Given the description of an element on the screen output the (x, y) to click on. 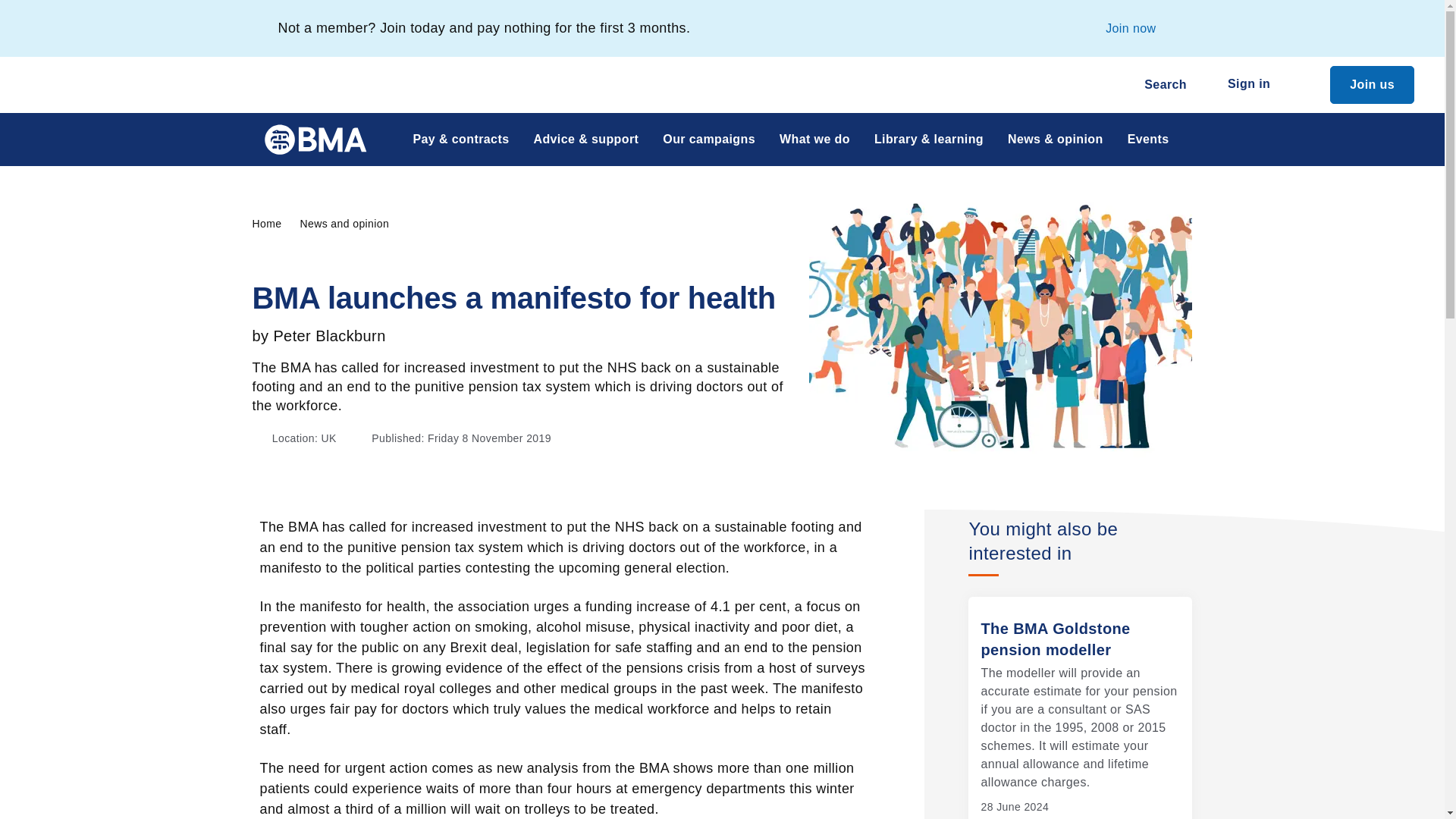
Sign in (1257, 85)
News and opinion (353, 223)
What we do (814, 139)
Home (275, 223)
Join now (1130, 28)
Join us (1371, 85)
